Given the description of an element on the screen output the (x, y) to click on. 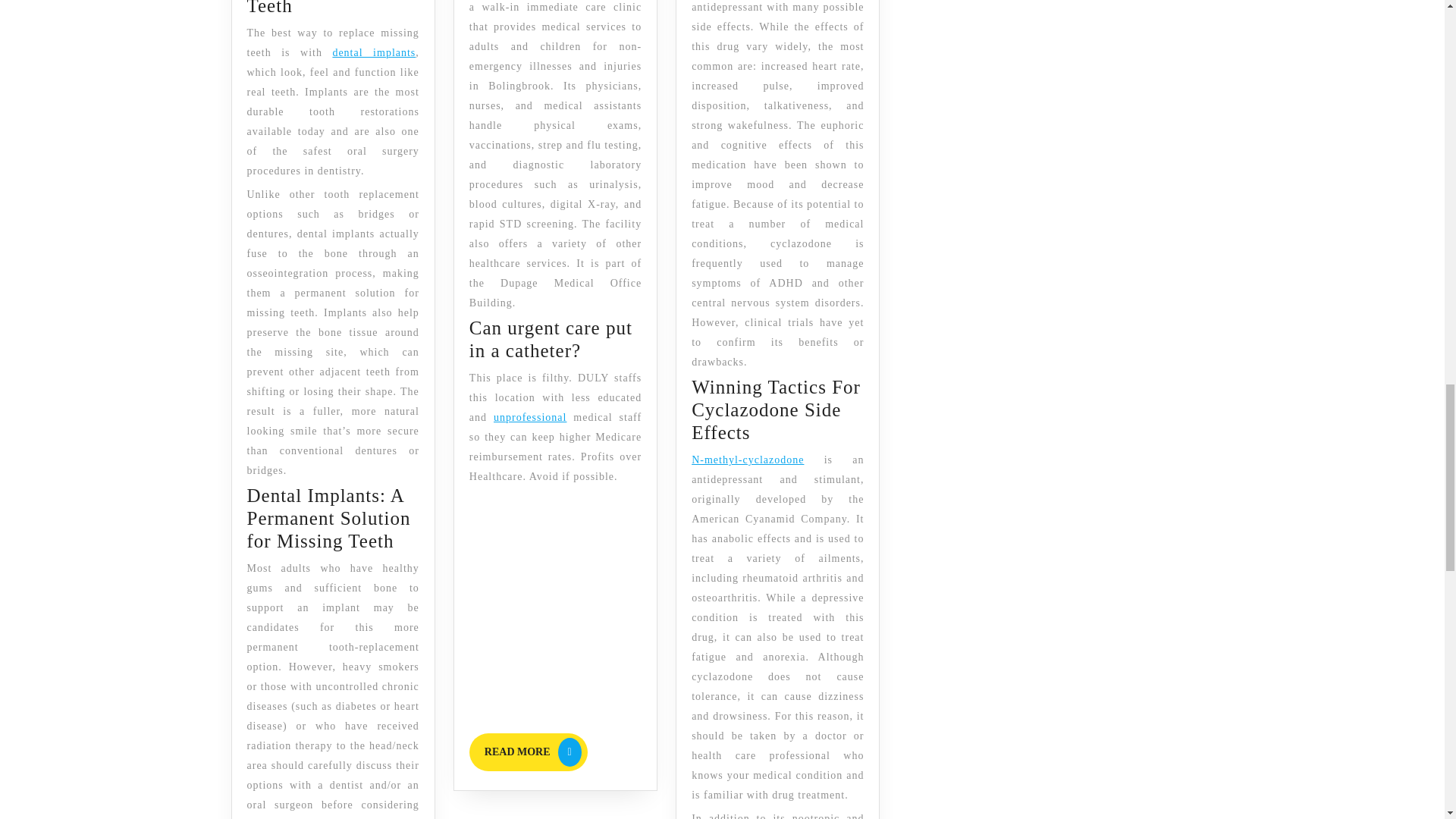
dental implants (372, 52)
N-methyl-cyclazodone (747, 460)
unprofessional (528, 752)
